Given the description of an element on the screen output the (x, y) to click on. 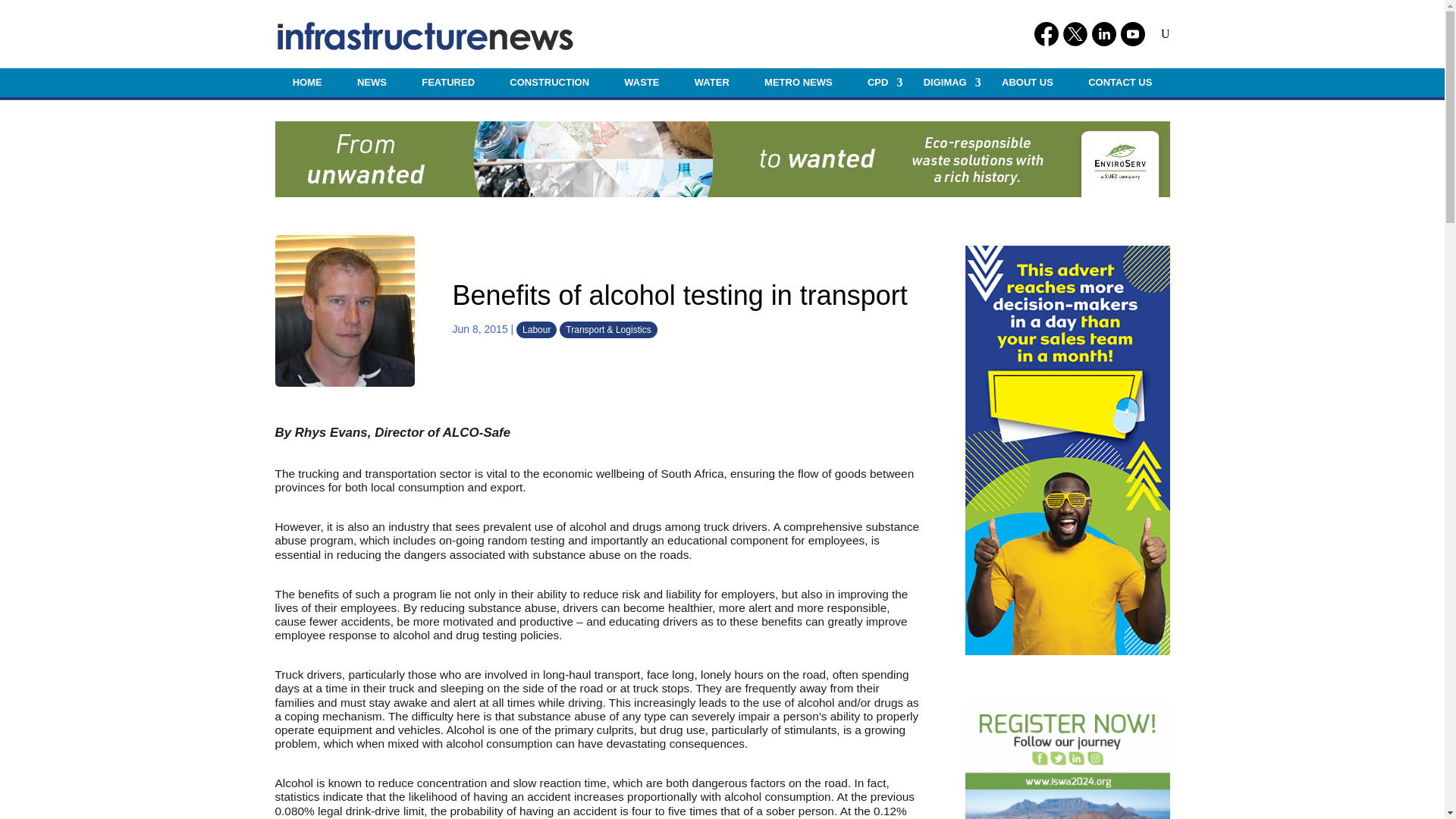
Facebook (1045, 33)
METRO NEWS (798, 82)
Linkedin (1104, 33)
WATER (711, 82)
HOME (307, 82)
ABOUT US (1027, 82)
CONSTRUCTION (549, 82)
WASTE (642, 82)
DIGIMAG (944, 82)
Labour (536, 329)
FEATURED (448, 82)
Youtube (1132, 33)
NEWS (371, 82)
CPD (877, 82)
CONTACT US (1120, 82)
